Given the description of an element on the screen output the (x, y) to click on. 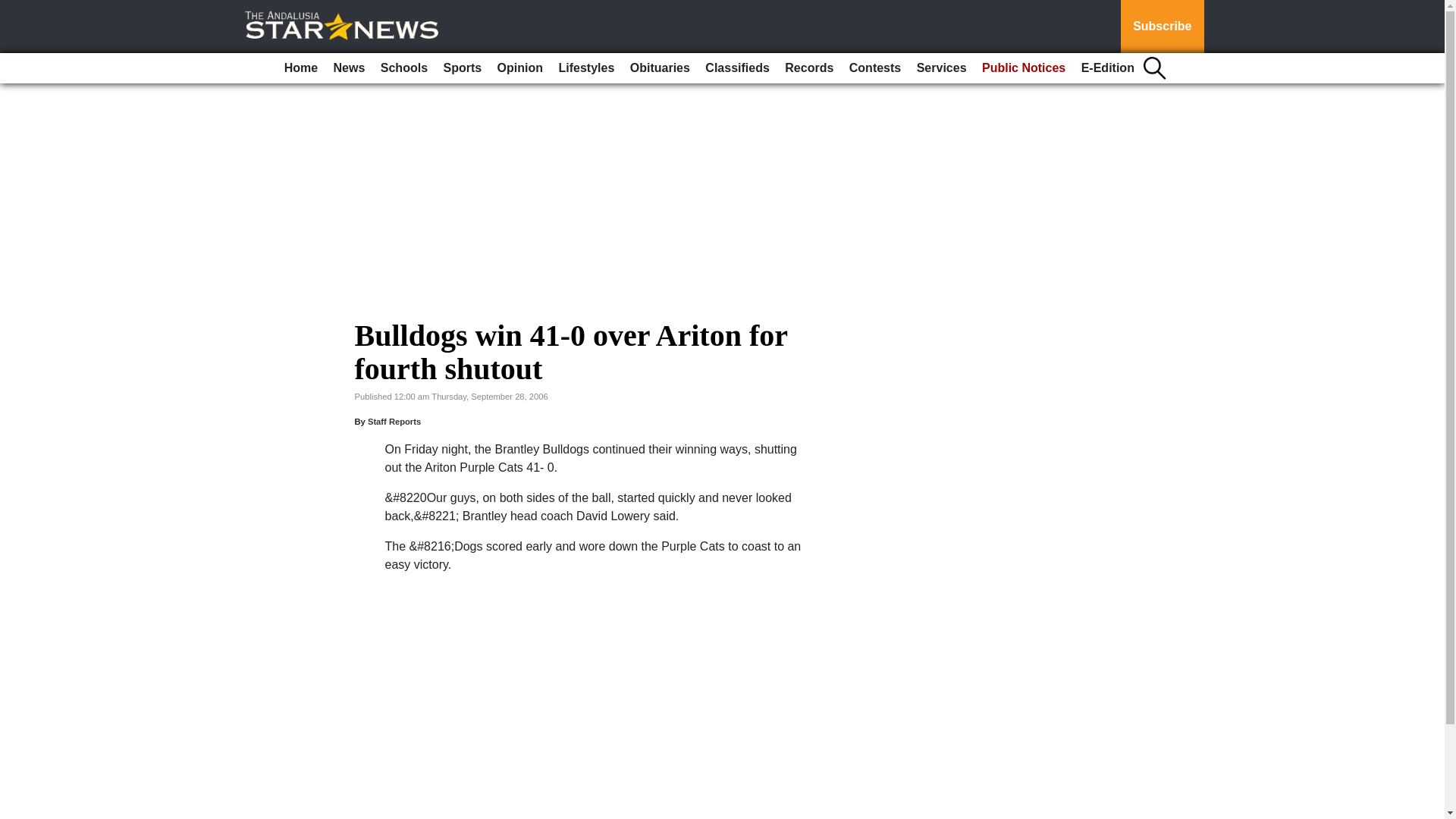
Services (941, 68)
Sports (461, 68)
Subscribe (1162, 26)
Home (300, 68)
Records (809, 68)
Contests (875, 68)
Go (13, 9)
Lifestyles (585, 68)
Opinion (520, 68)
Obituaries (659, 68)
Public Notices (1023, 68)
Classifieds (736, 68)
News (349, 68)
Schools (403, 68)
Staff Reports (394, 420)
